Given the description of an element on the screen output the (x, y) to click on. 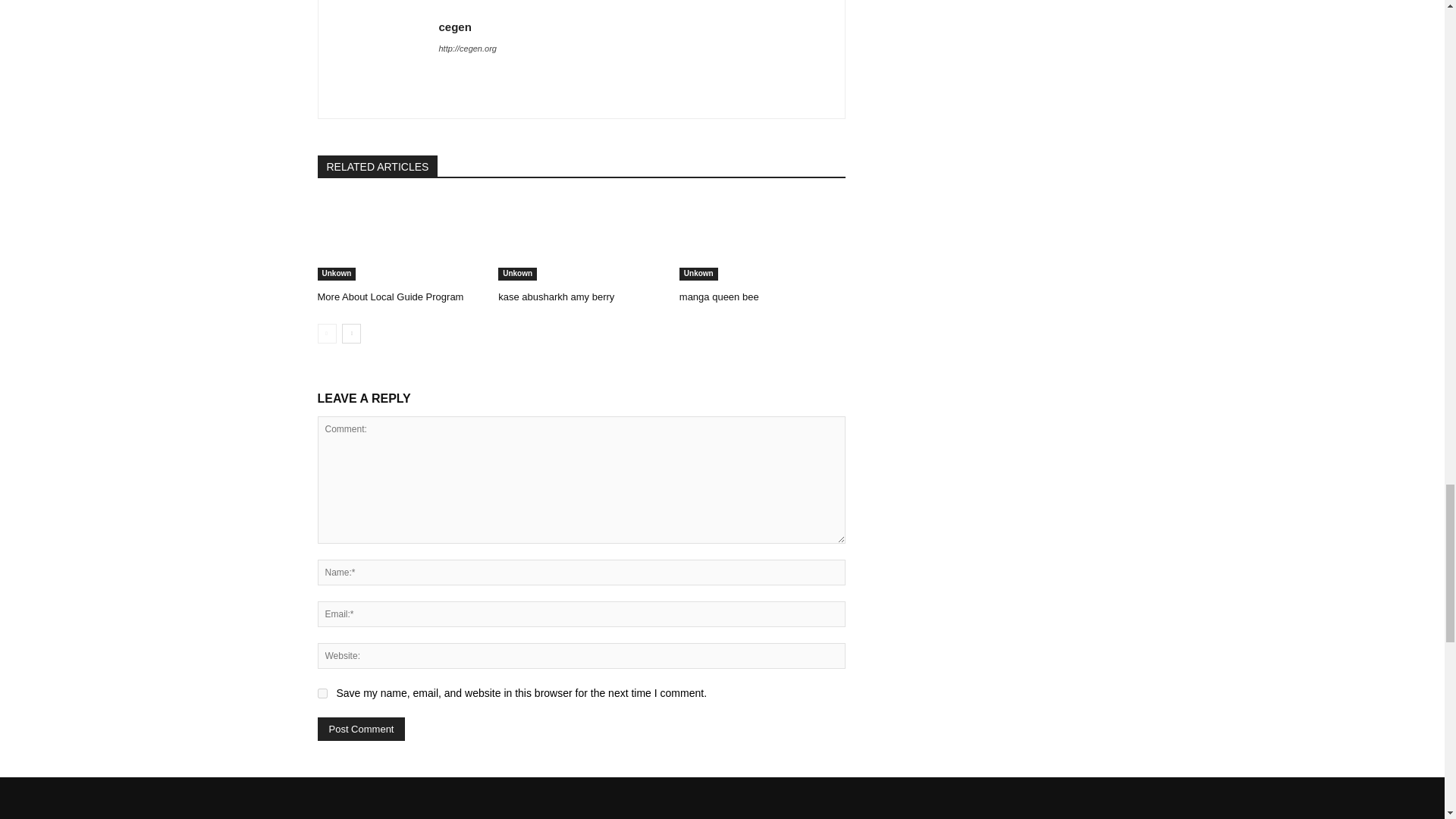
yes (321, 693)
Post Comment (360, 729)
